Given the description of an element on the screen output the (x, y) to click on. 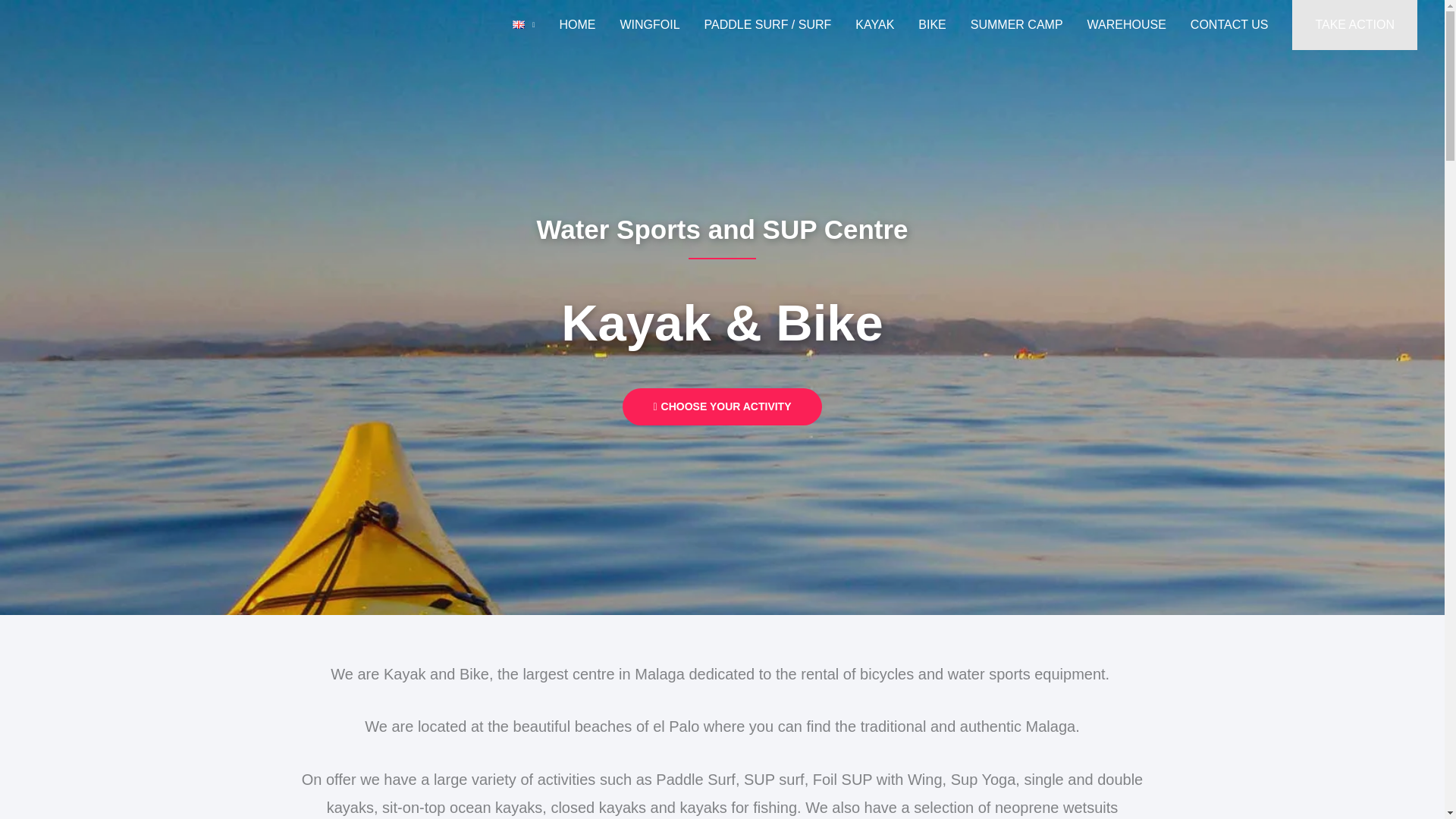
WAREHOUSE (1126, 24)
CHOOSE YOUR ACTIVITY (722, 406)
TAKE ACTION (1354, 24)
WINGFOIL (649, 24)
BIKE (931, 24)
SUMMER CAMP (1016, 24)
HOME (577, 24)
CONTACT US (1229, 24)
KAYAK (874, 24)
